Given the description of an element on the screen output the (x, y) to click on. 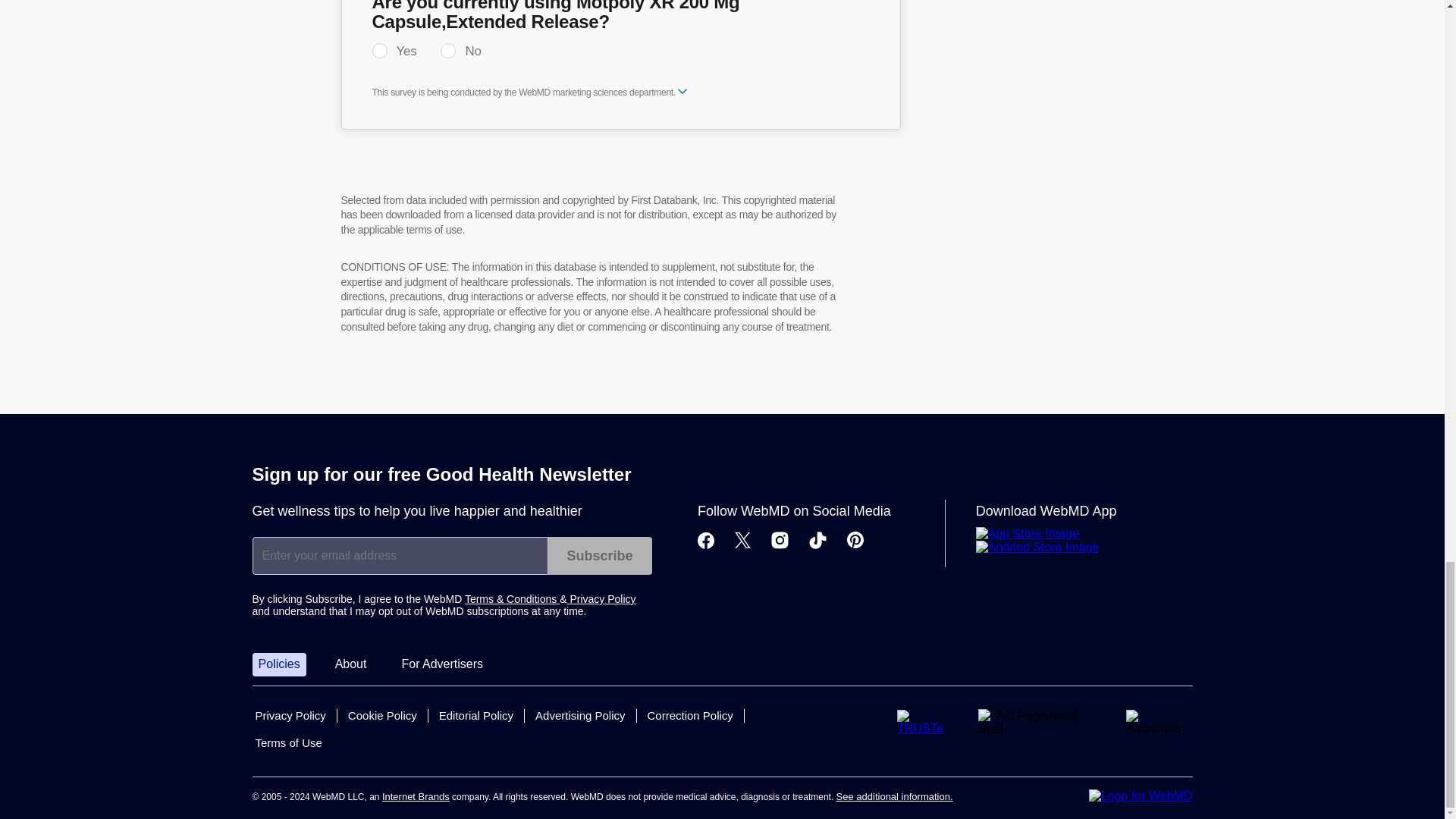
Adchoices (1158, 722)
WebMD: Better information. Better health. (1140, 796)
TRUSTe Privacy Certification (924, 722)
TAG Registered Seal (1039, 723)
